Given the description of an element on the screen output the (x, y) to click on. 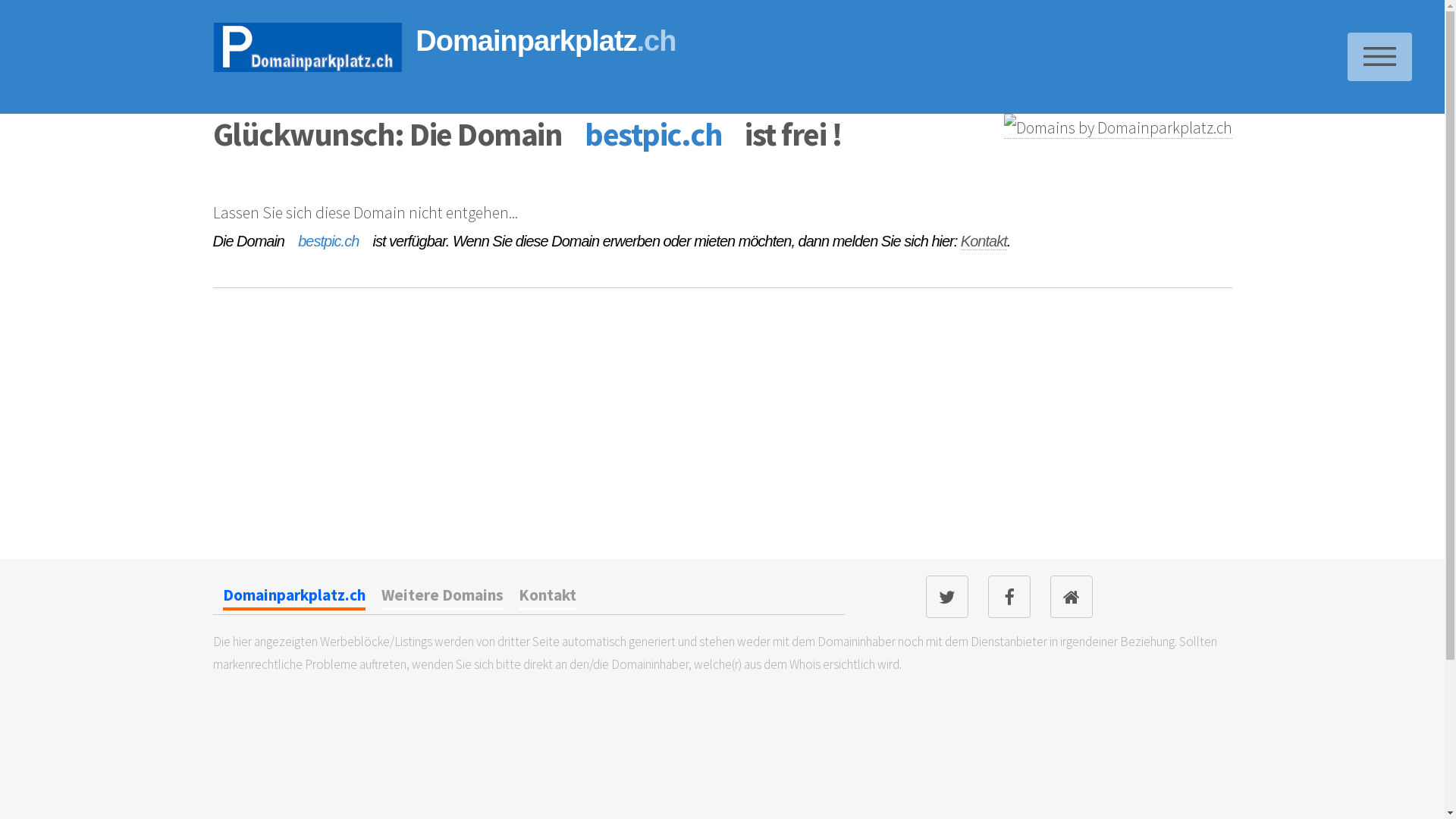
MENU Element type: text (1379, 56)
Kontakt Element type: text (983, 241)
Advertisement Element type: hover (1032, 455)
Weitere Domains Element type: text (442, 597)
Domainparkplatz.ch Element type: text (293, 597)
Advertisement Element type: hover (325, 455)
Kontakt Element type: text (547, 597)
